Given the description of an element on the screen output the (x, y) to click on. 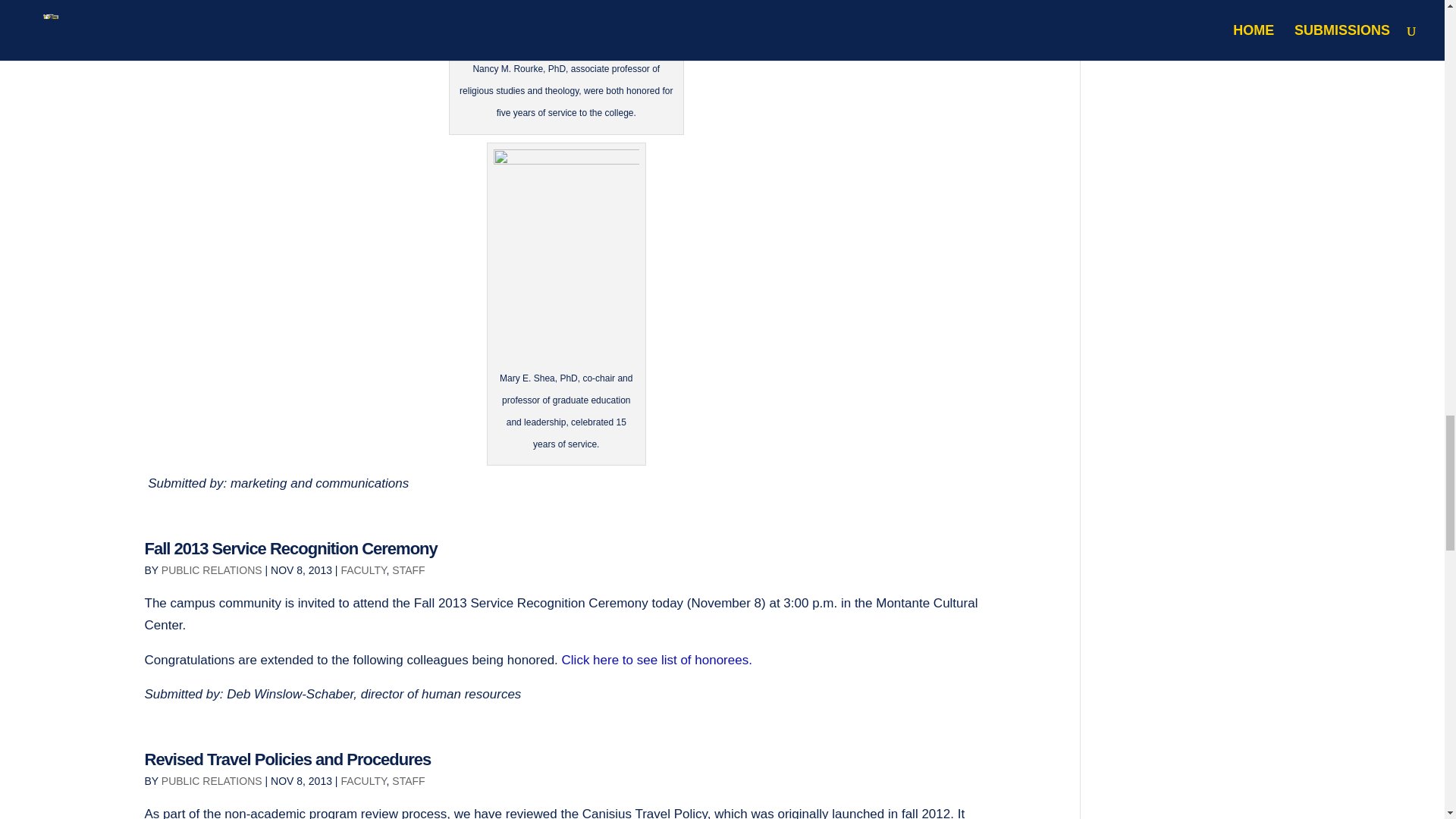
FACULTY (362, 570)
Click here to see list of honorees. (657, 659)
PUBLIC RELATIONS (211, 570)
Posts by Public Relations (211, 570)
FACULTY (362, 780)
PUBLIC RELATIONS (211, 780)
Posts by Public Relations (211, 780)
STAFF (408, 780)
Fall 2013 Service Recognition Ceremony (290, 547)
Revised Travel Policies and Procedures (287, 759)
